Given the description of an element on the screen output the (x, y) to click on. 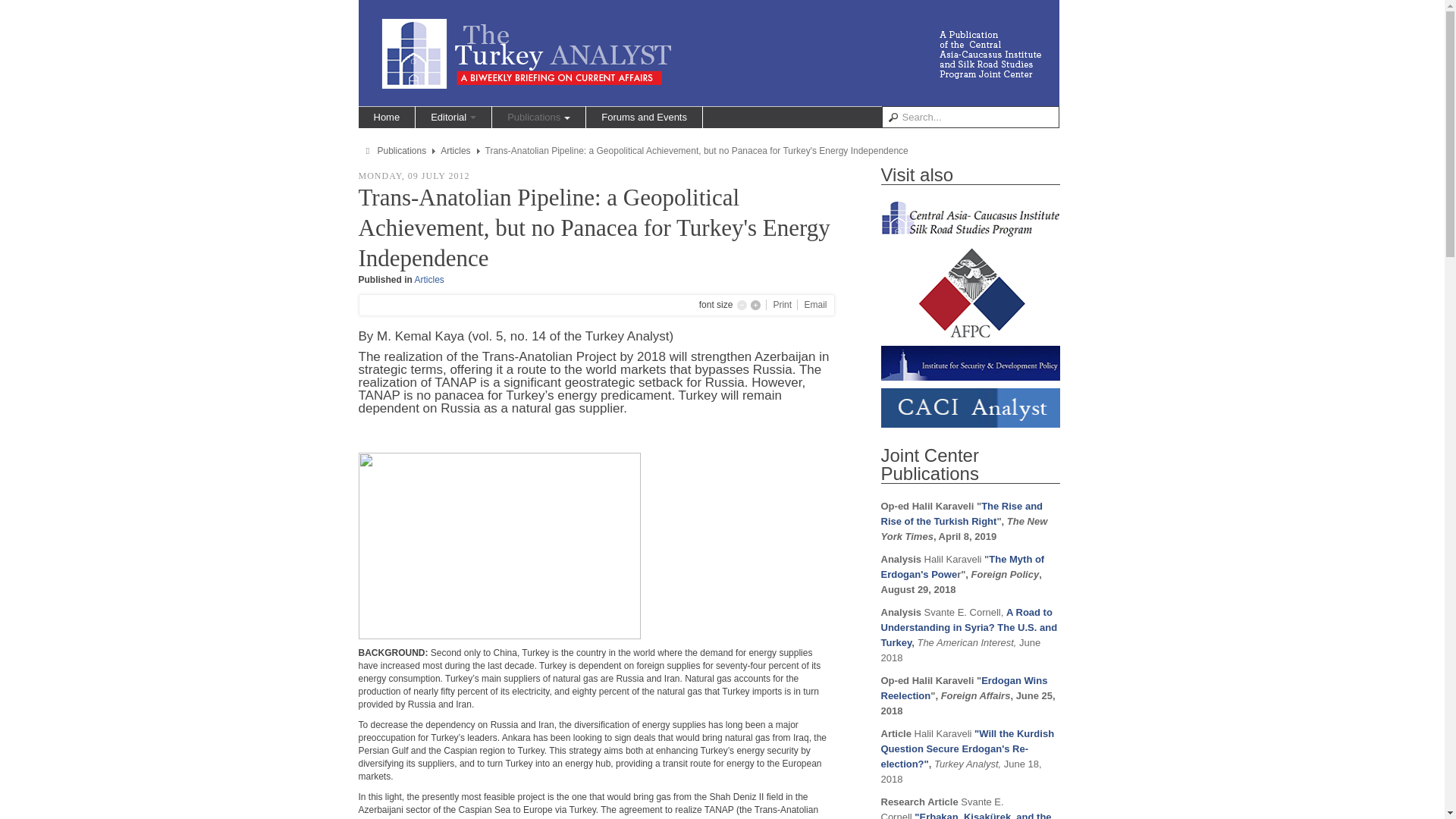
The Myth of Erdogan's Powe (962, 566)
Publications (538, 117)
Editorial (453, 117)
Articles (429, 279)
Email (815, 304)
Articles (455, 150)
Forums and Events (643, 117)
The Rise and Rise of the Turkish Right (961, 513)
A Road to Understanding in Syria? The U.S. and Turkey (969, 627)
Print (783, 304)
Publications (401, 150)
"Will the Kurdish Question Secure Erdogan's Re-election?" (967, 748)
Home (386, 117)
Erdogan Wins Reelection (964, 687)
